Given the description of an element on the screen output the (x, y) to click on. 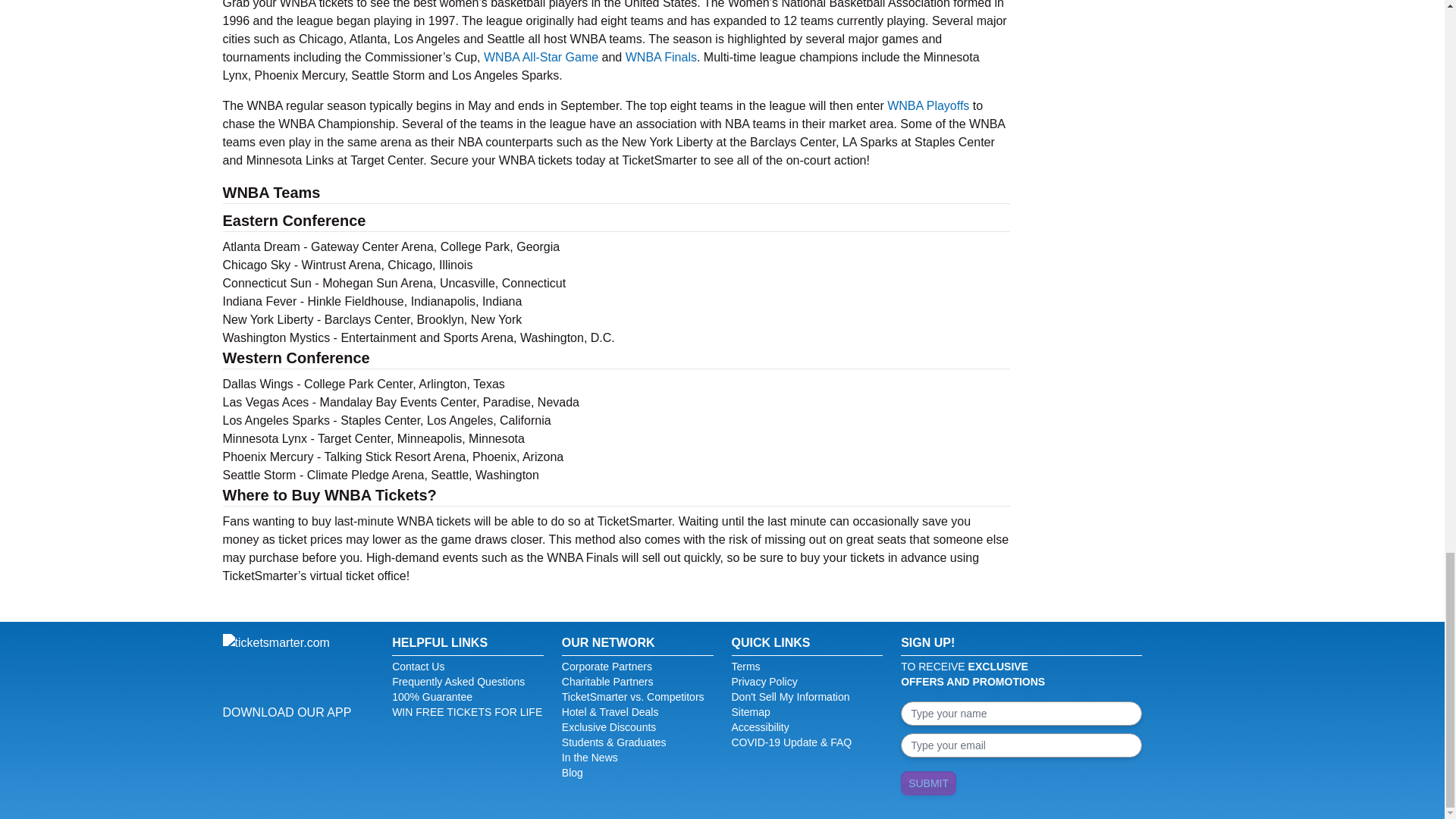
WNBA All-Star Game tickets (540, 56)
WNBA Playoffs tickets (927, 105)
WNBA Finals tickets (661, 56)
